Given the description of an element on the screen output the (x, y) to click on. 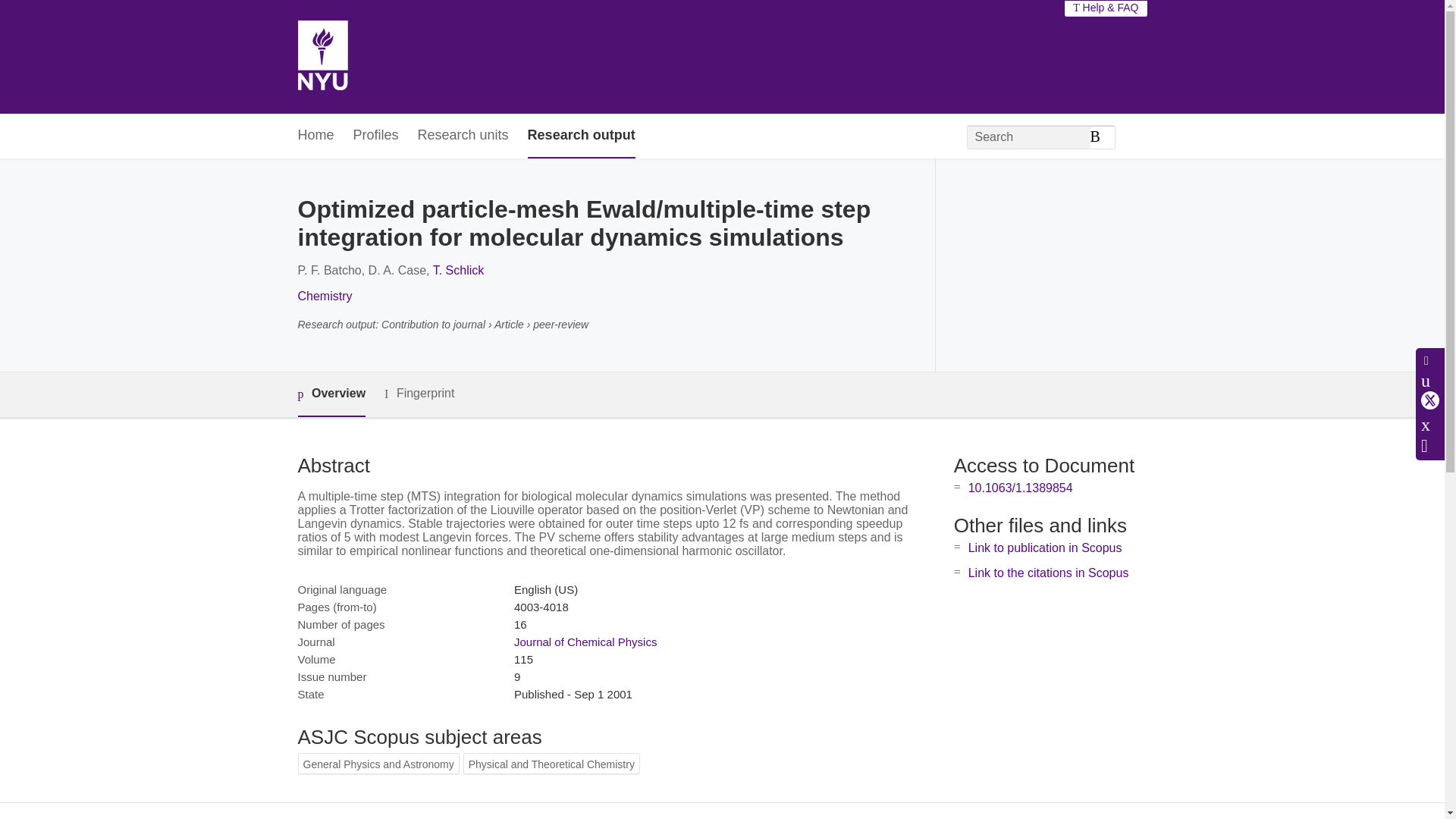
Profiles (375, 135)
Overview (331, 394)
Research output (580, 135)
Fingerprint (419, 393)
Link to publication in Scopus (1045, 547)
T. Schlick (458, 269)
Journal of Chemical Physics (584, 641)
Research units (462, 135)
Chemistry (324, 295)
